Given the description of an element on the screen output the (x, y) to click on. 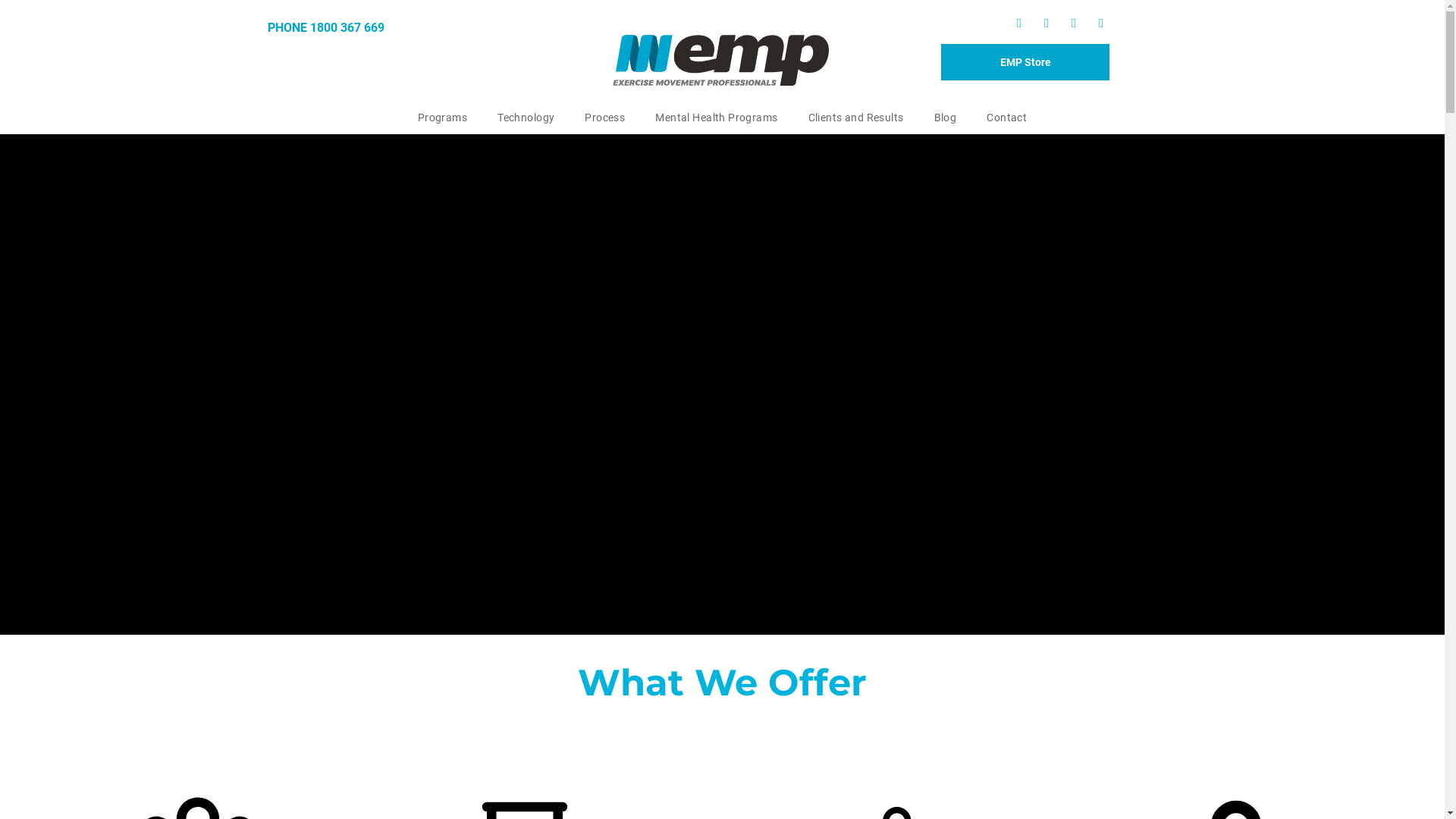
Clients and Results Element type: text (856, 117)
Programs Element type: text (442, 117)
Contact Element type: text (1006, 117)
PHONE 1800 367 669 Element type: text (324, 27)
Blog Element type: text (945, 117)
Process Element type: text (604, 117)
EMP Store Element type: text (1025, 61)
Mental Health Programs Element type: text (716, 117)
Technology Element type: text (525, 117)
